Given the description of an element on the screen output the (x, y) to click on. 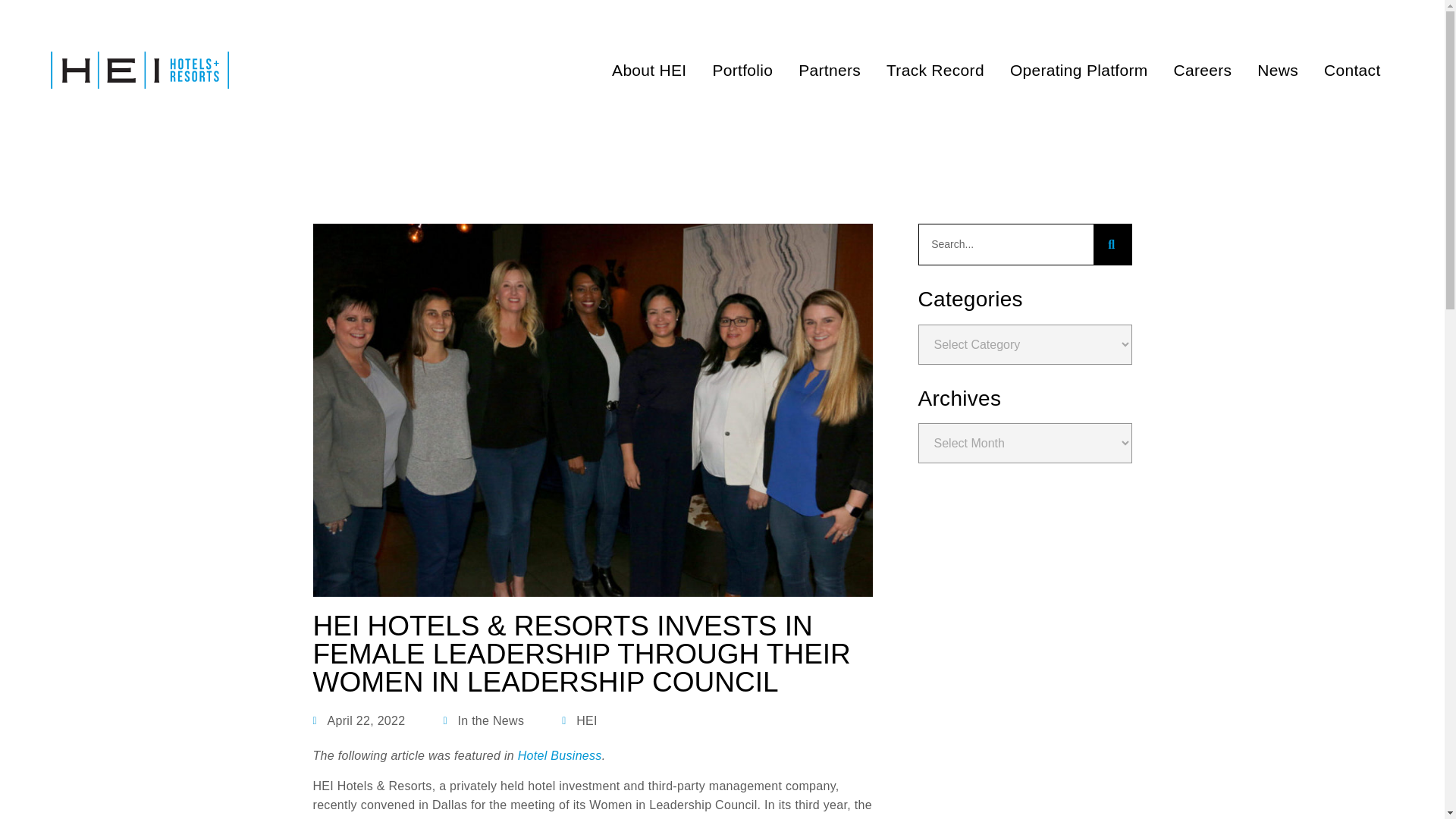
Operating Platform (1078, 70)
Portfolio (742, 70)
Contact (1352, 70)
Partners (829, 70)
Careers (1202, 70)
News (1277, 70)
Track Record (935, 70)
About HEI (648, 70)
